Given the description of an element on the screen output the (x, y) to click on. 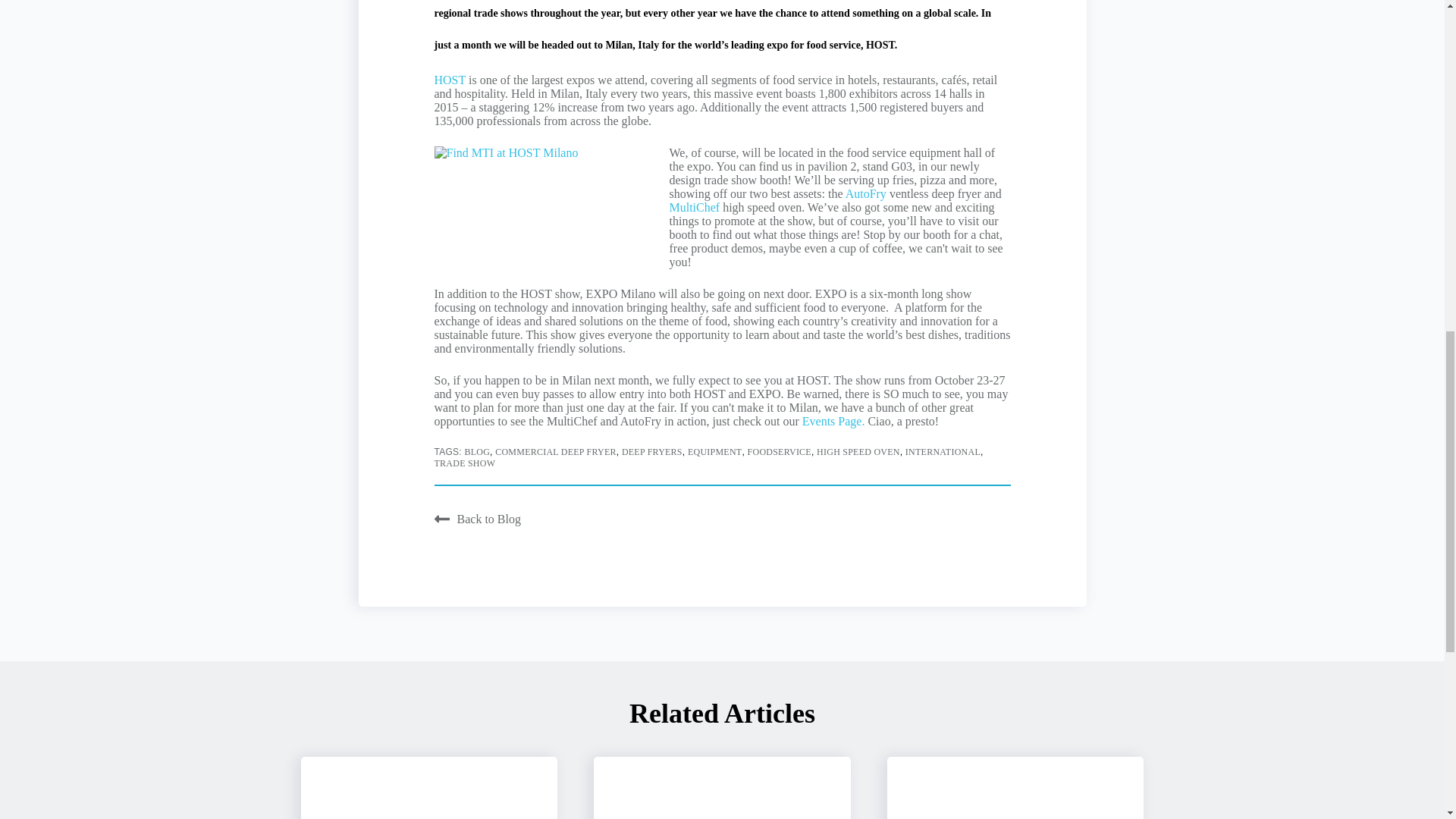
MultiChef Home Page (695, 206)
Events (831, 420)
AutoFry Home Page (865, 193)
HOST Homepage (450, 79)
